Given the description of an element on the screen output the (x, y) to click on. 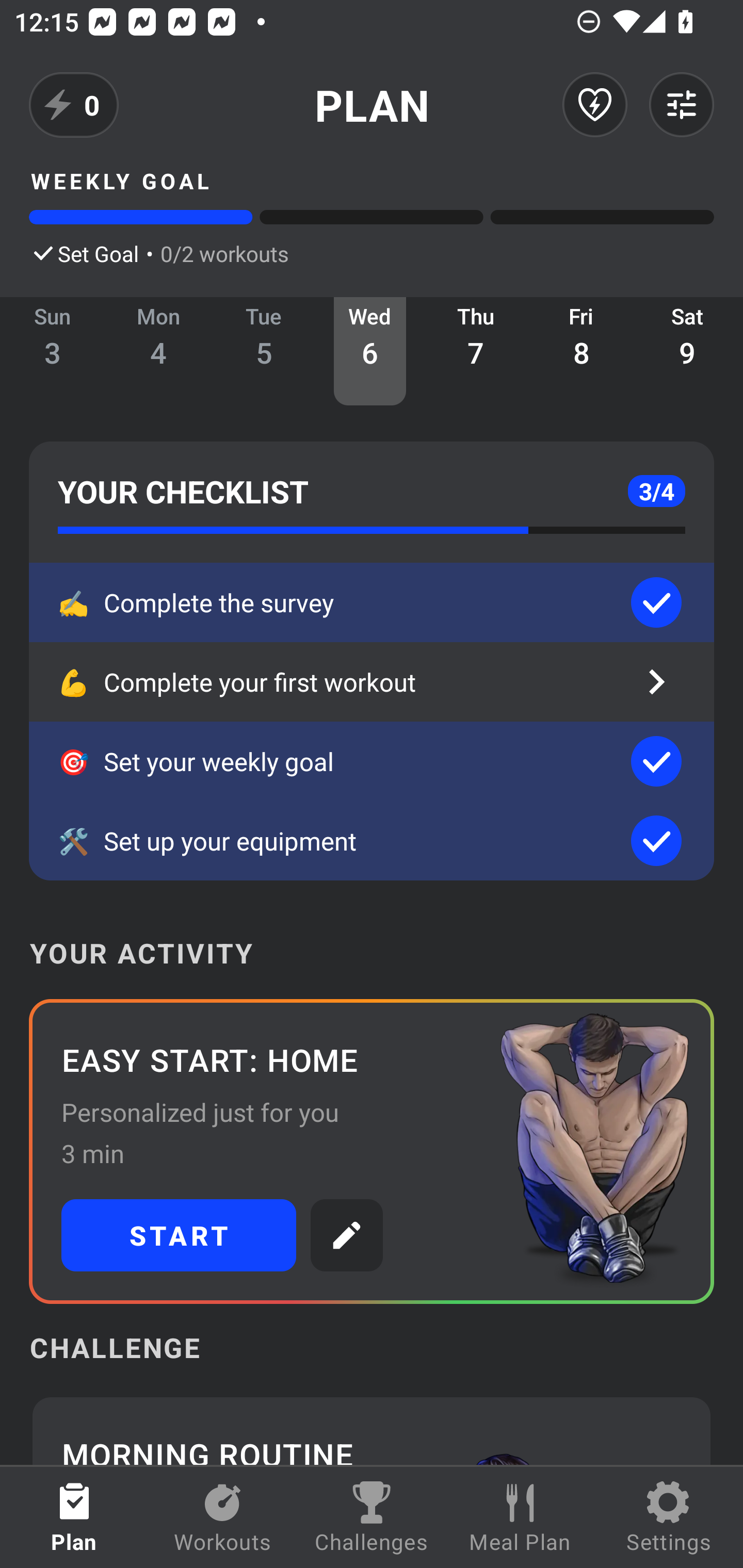
0 (73, 104)
Sun 3 (52, 351)
Mon 4 (158, 351)
Tue 5 (264, 351)
Wed 6 (369, 351)
Thu 7 (475, 351)
Fri 8 (581, 351)
Sat 9 (687, 351)
💪 Complete your first workout (371, 681)
START (178, 1235)
 Workouts  (222, 1517)
 Challenges  (371, 1517)
 Meal Plan  (519, 1517)
 Settings  (668, 1517)
